Given the description of an element on the screen output the (x, y) to click on. 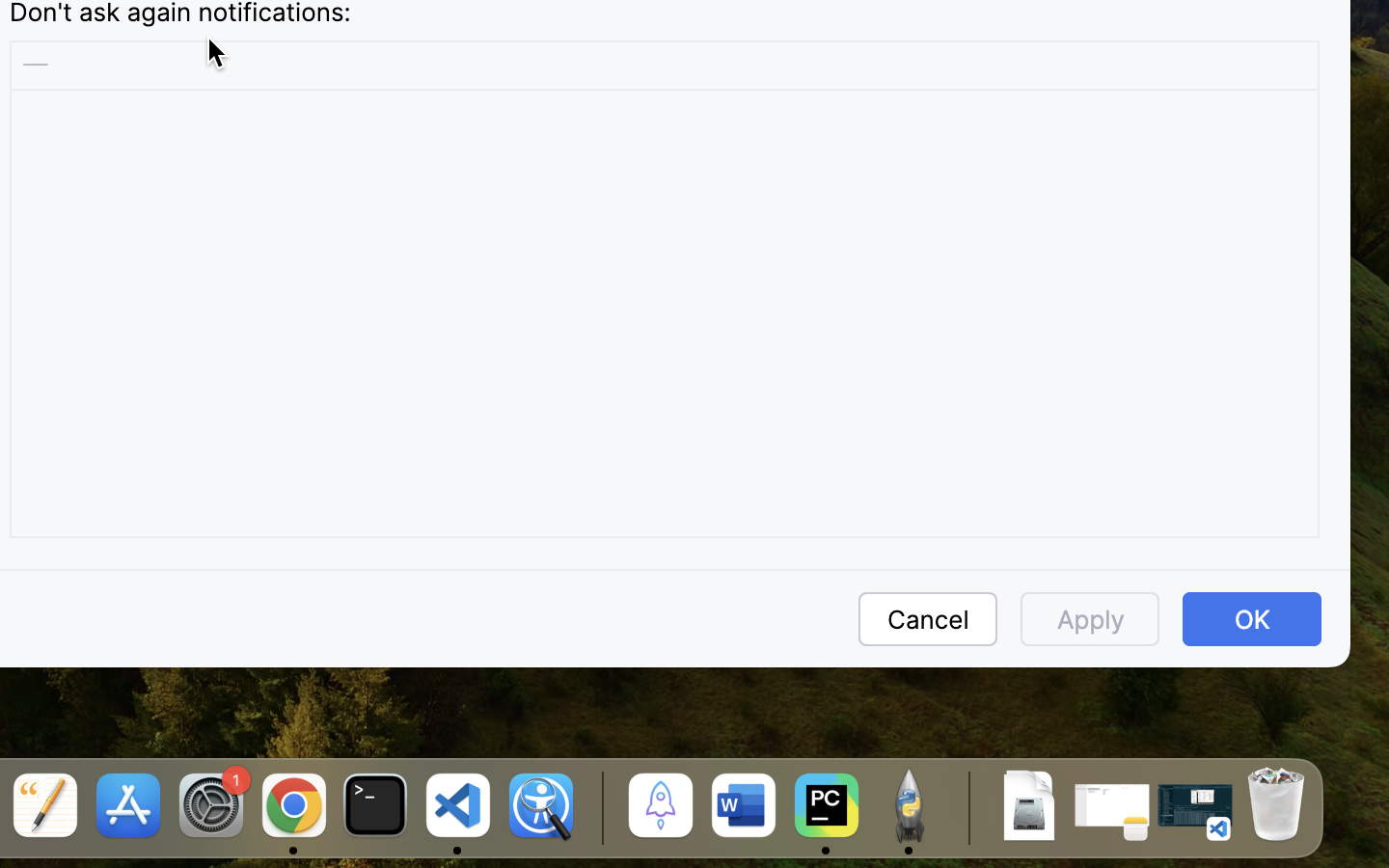
0.4285714328289032 Element type: AXDockItem (598, 807)
